Given the description of an element on the screen output the (x, y) to click on. 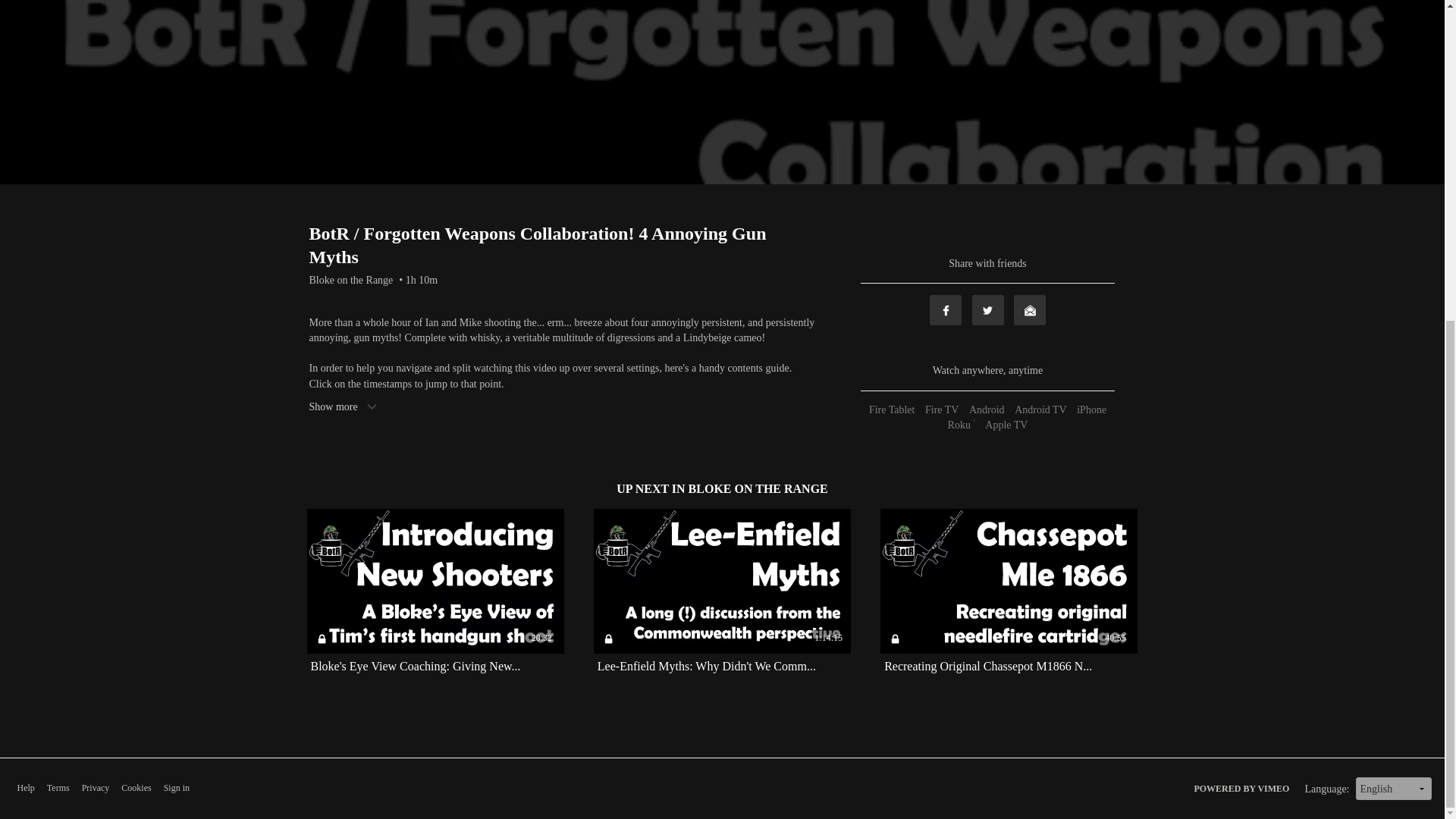
Android TV (1040, 409)
Bloke's Eye View Coaching: Giving New... (416, 666)
Terms (57, 788)
Bloke's Eye View Coaching: Giving New... (416, 666)
Lee-Enfield Myths: Why Didn't We Comm... (705, 666)
POWERED BY VIMEO (1240, 788)
Help (24, 788)
Email (1029, 309)
iPhone (1091, 409)
Android (987, 409)
Fire Tablet (891, 409)
20:32 (434, 580)
Twitter (988, 309)
Privacy (95, 788)
Apple TV (1005, 424)
